Given the description of an element on the screen output the (x, y) to click on. 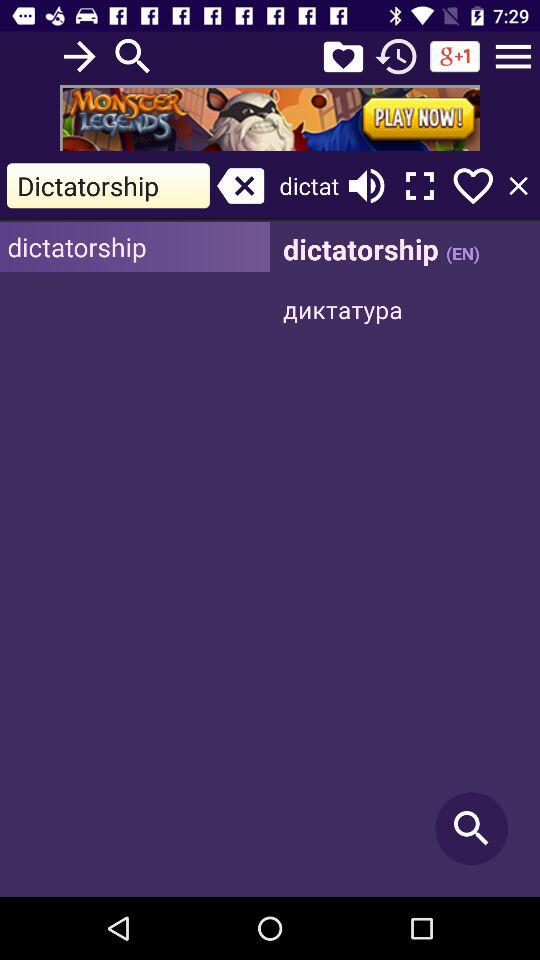
go to next (79, 56)
